Given the description of an element on the screen output the (x, y) to click on. 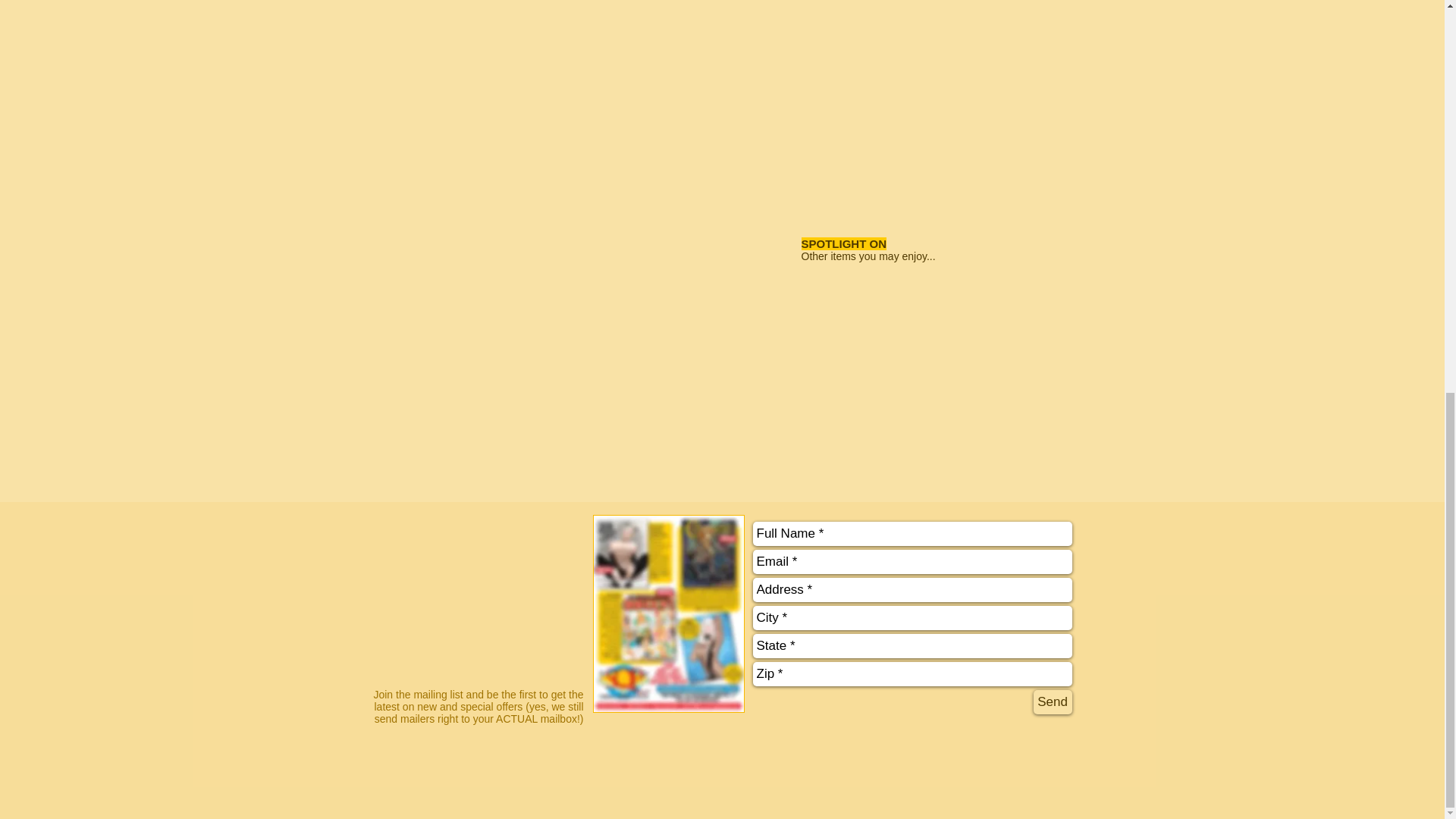
Send (1051, 702)
